Given the description of an element on the screen output the (x, y) to click on. 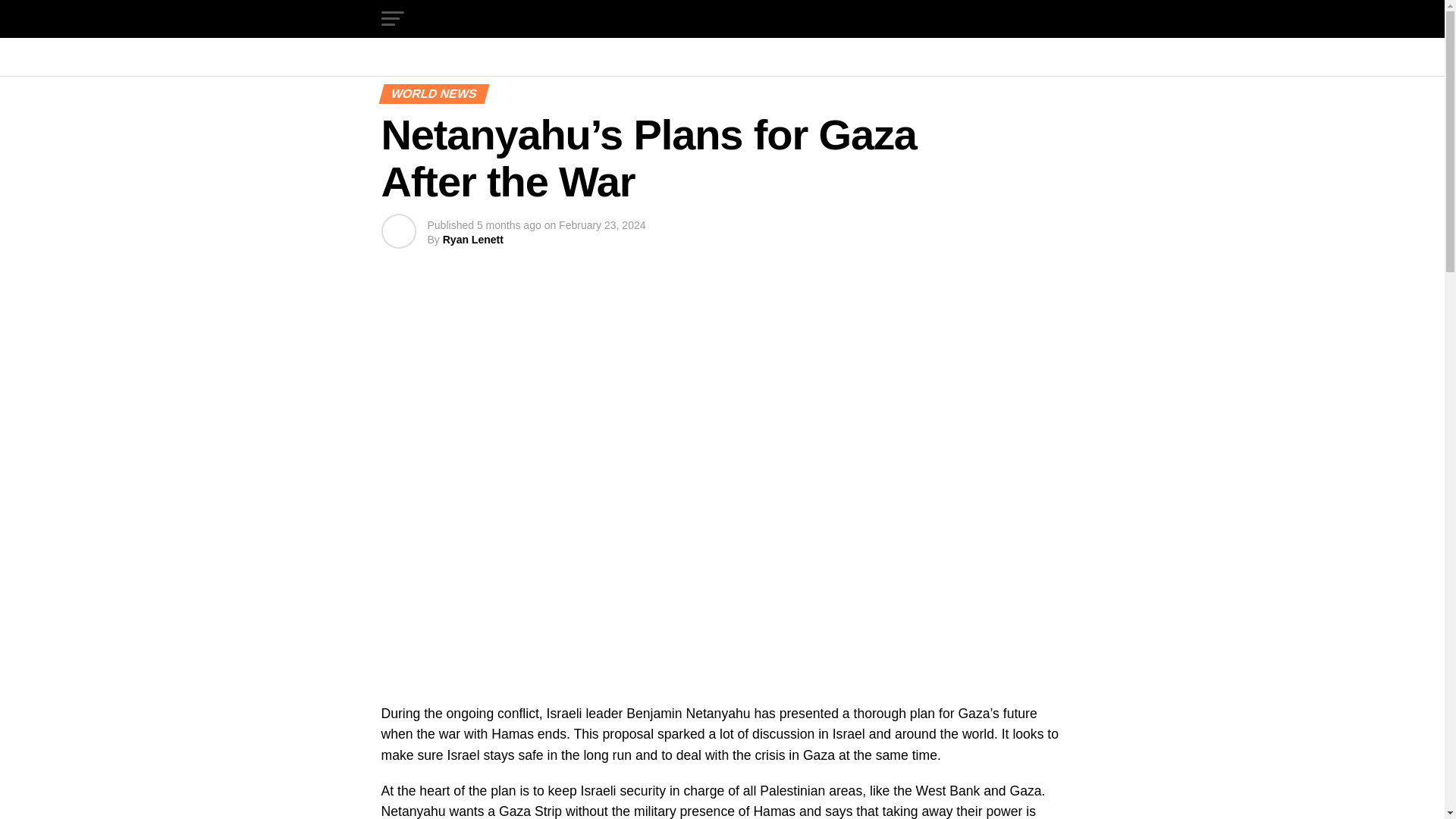
Posts by Ryan Lenett (472, 239)
Ryan Lenett (472, 239)
